Given the description of an element on the screen output the (x, y) to click on. 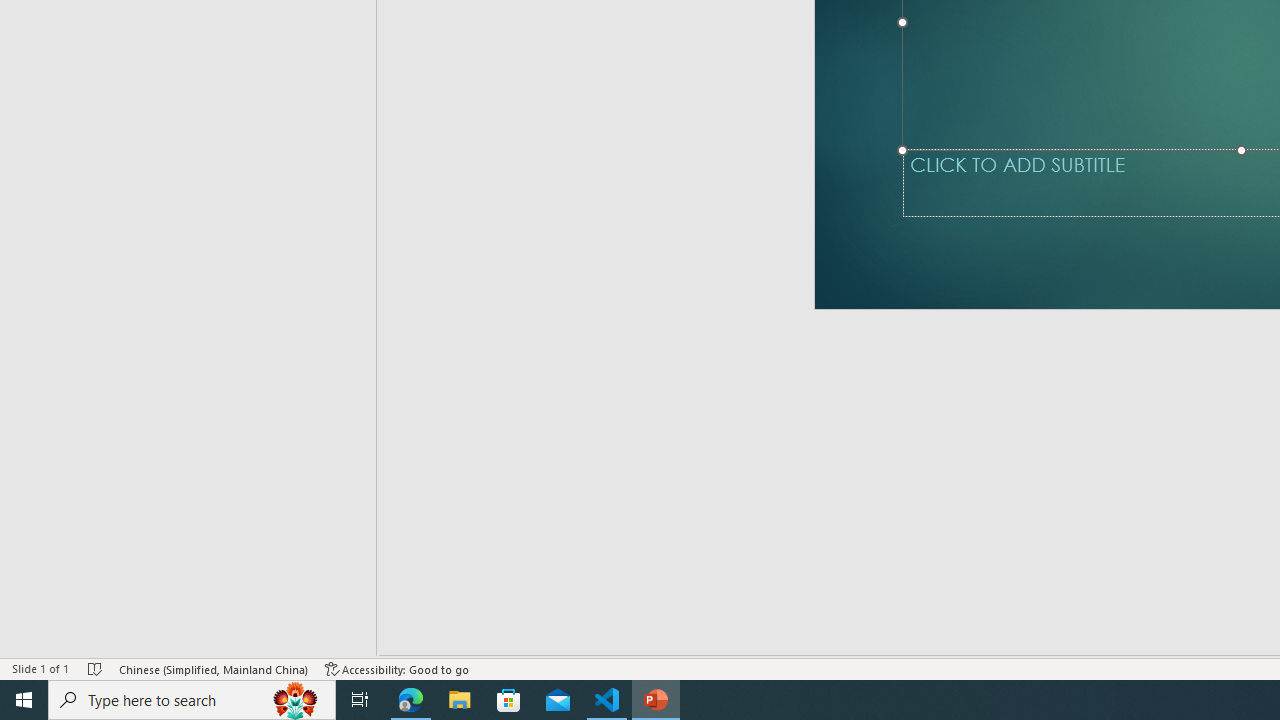
Accessibility Checker Accessibility: Good to go (426, 640)
AutomationID: DynamicSearchBoxGleamImage (1138, 687)
AutomationID: BadgeAnchorLargeTicker (46, 686)
Language English (United States) (224, 640)
Word Count 2 words (45, 640)
Spelling and Grammar Check No Errors (112, 640)
